Given the description of an element on the screen output the (x, y) to click on. 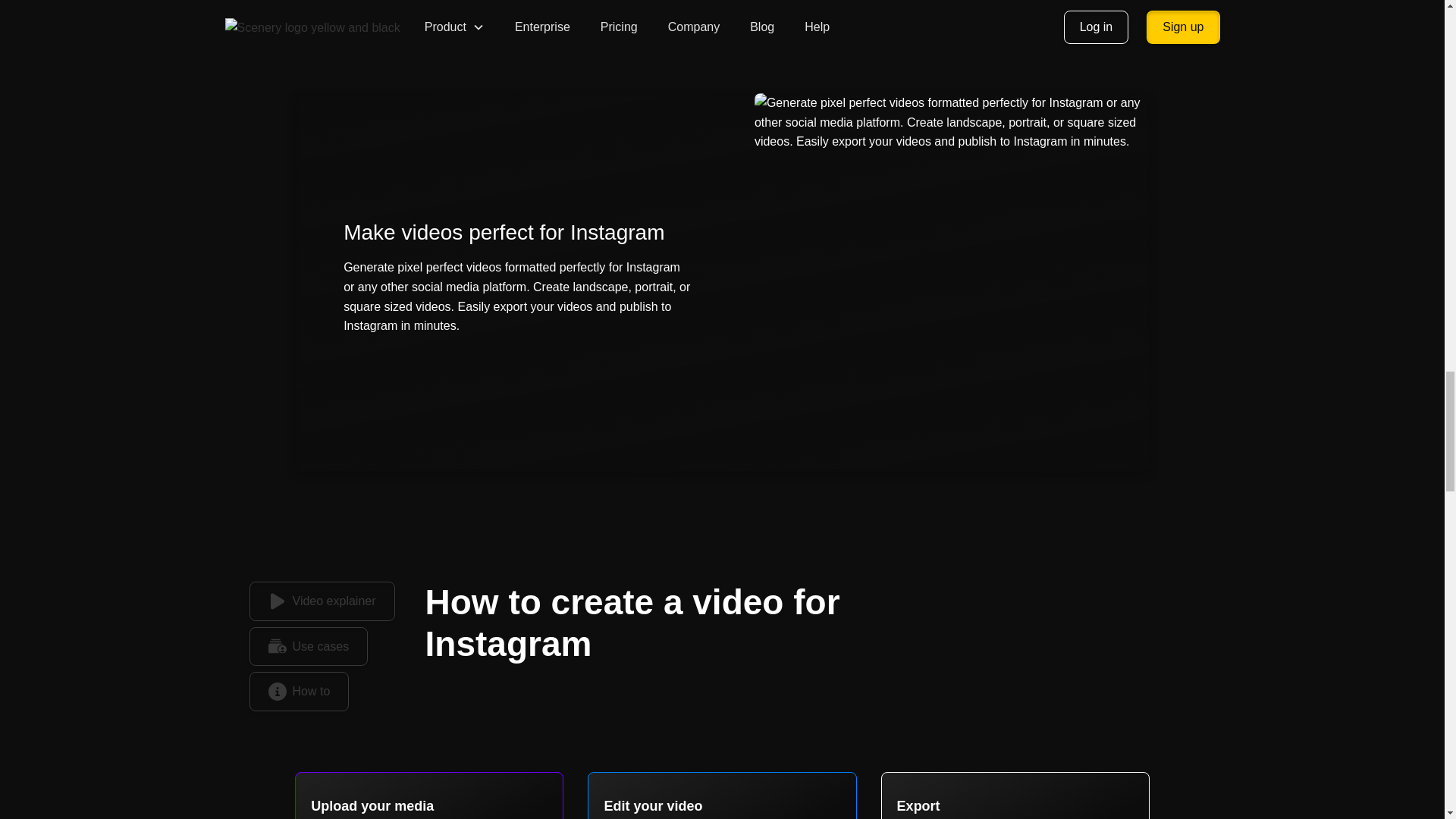
How to (298, 691)
Video explainer (321, 600)
Use cases (308, 646)
